Given the description of an element on the screen output the (x, y) to click on. 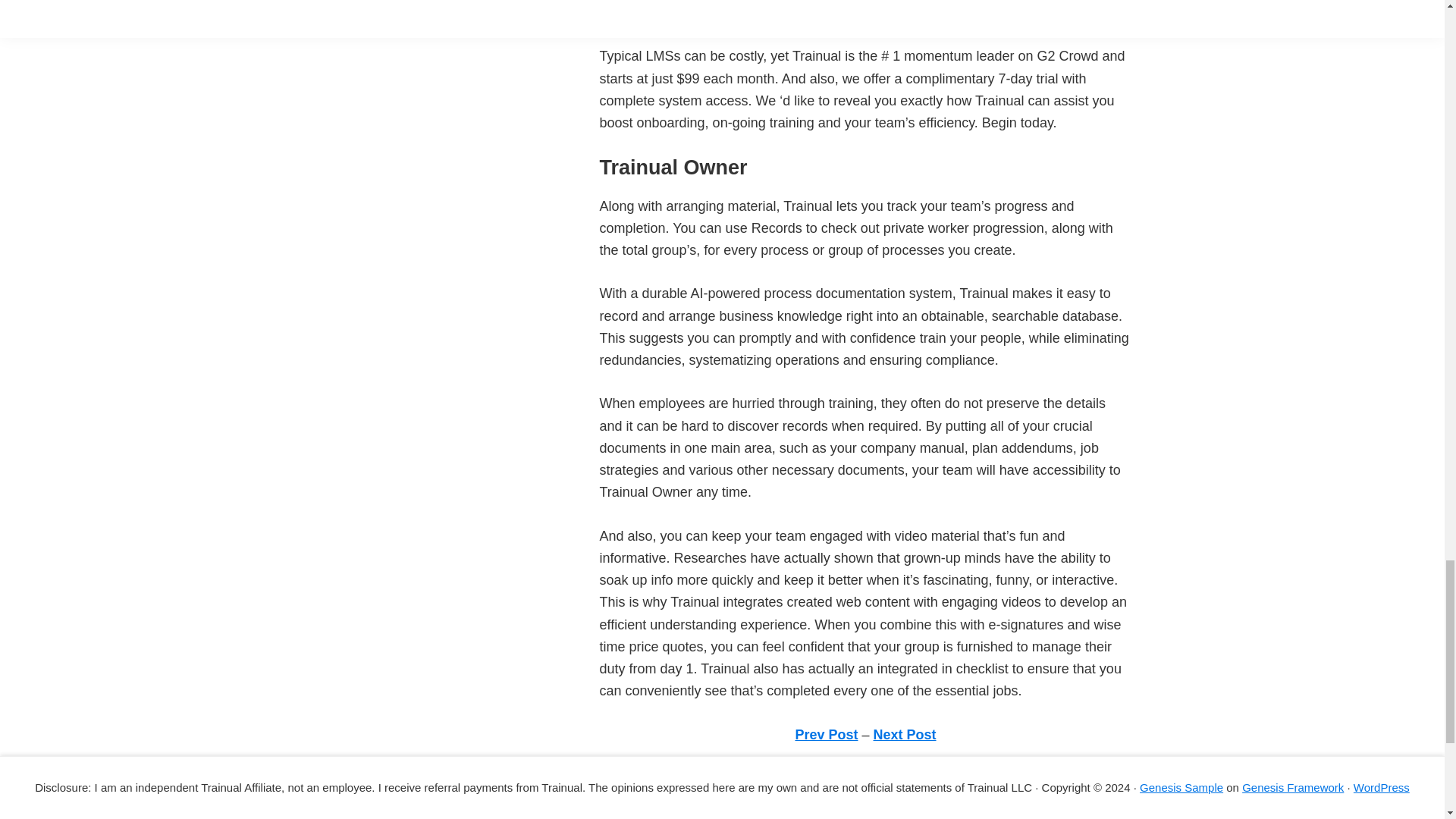
Trainual Mobile App (658, 813)
Trainual Mobile App (658, 813)
Next Post (904, 734)
Prev Post (825, 734)
